Given the description of an element on the screen output the (x, y) to click on. 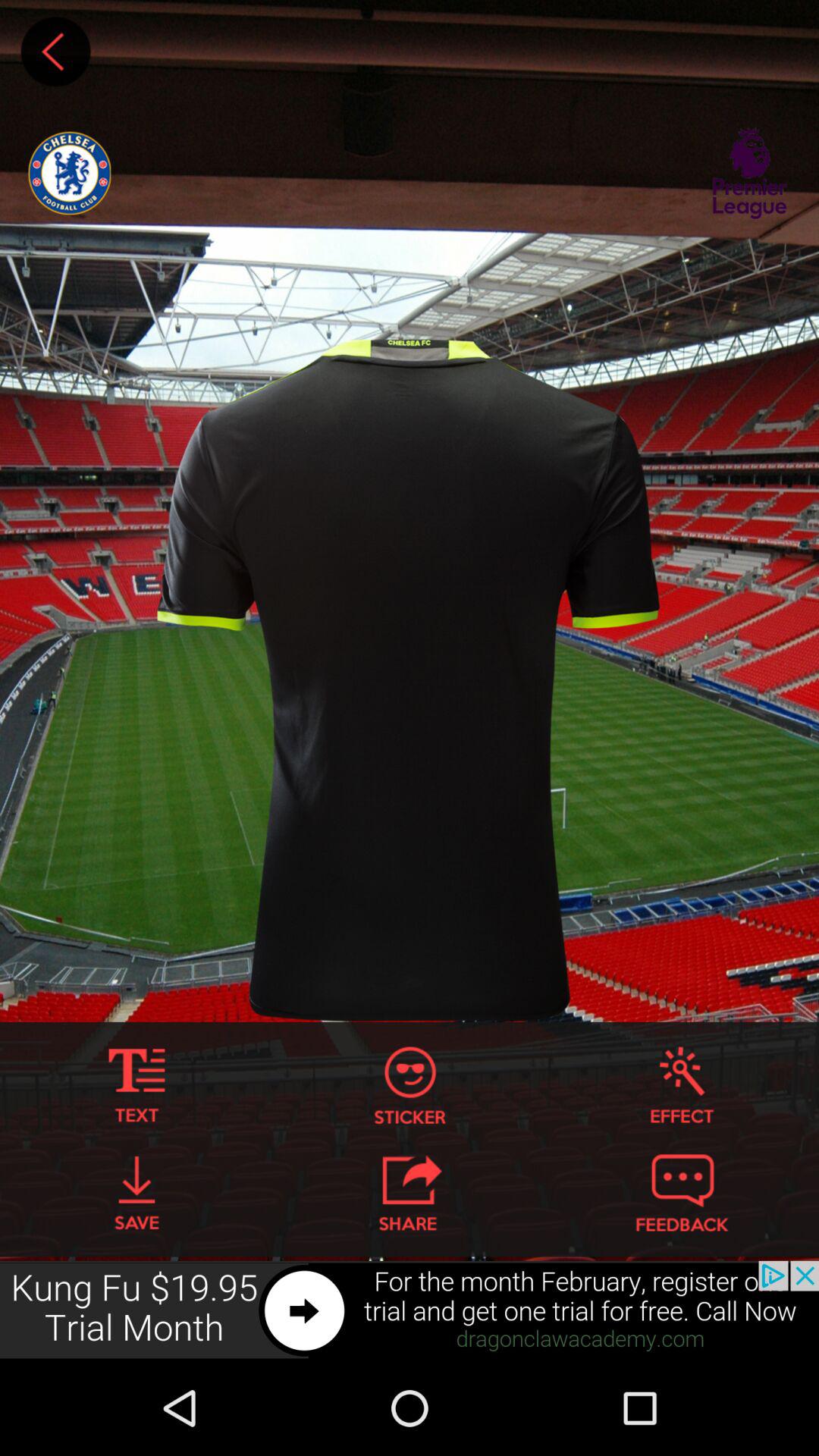
input text (136, 1085)
